Given the description of an element on the screen output the (x, y) to click on. 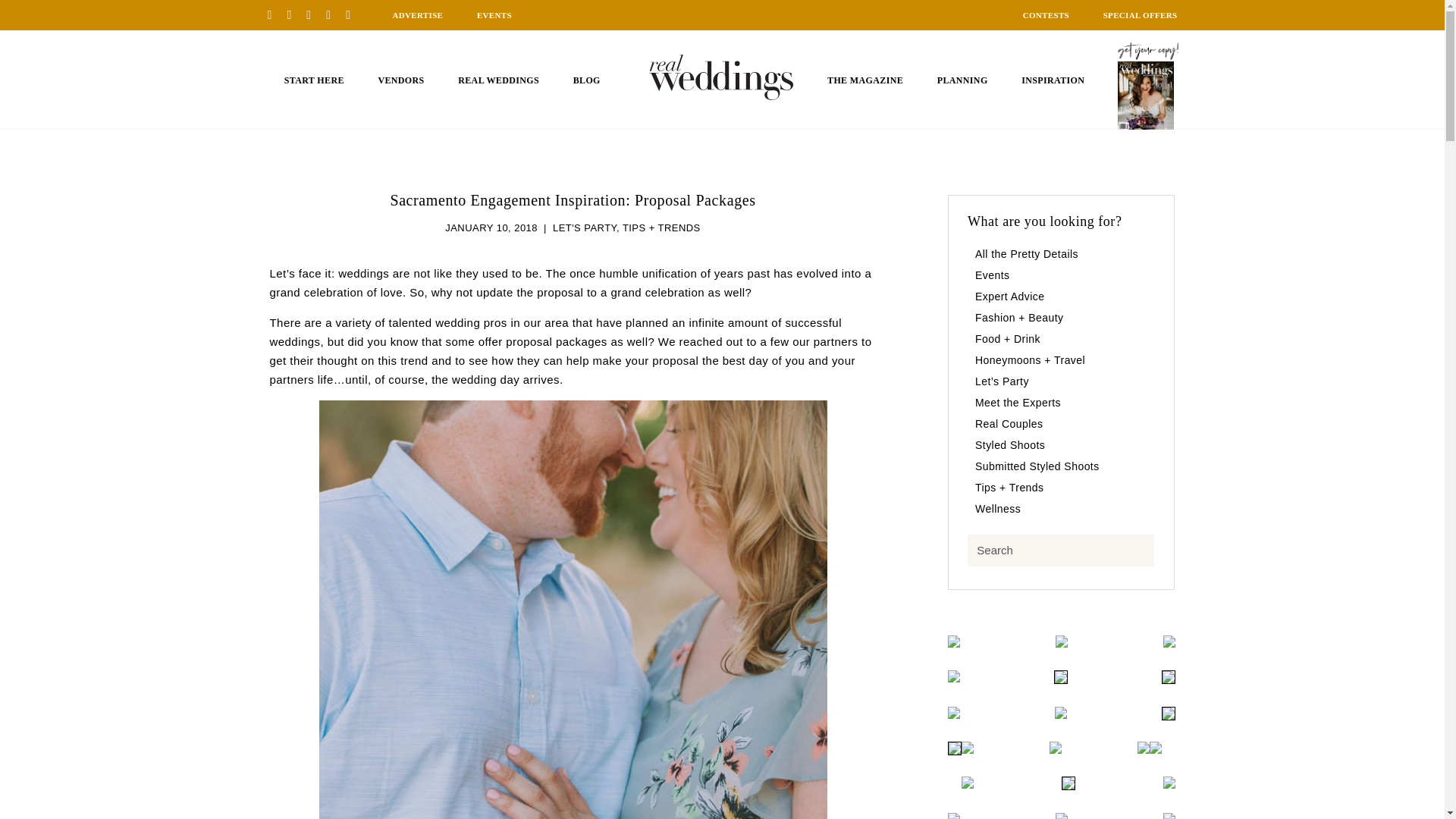
Twitter (334, 14)
EVENTS (494, 14)
HOME (721, 76)
BLOG (586, 80)
PLANNING (962, 80)
Search (1061, 550)
CONTESTS (1045, 14)
SPECIAL OFFERS (1140, 14)
INSPIRATION (1053, 80)
YouTube (353, 14)
